Given the description of an element on the screen output the (x, y) to click on. 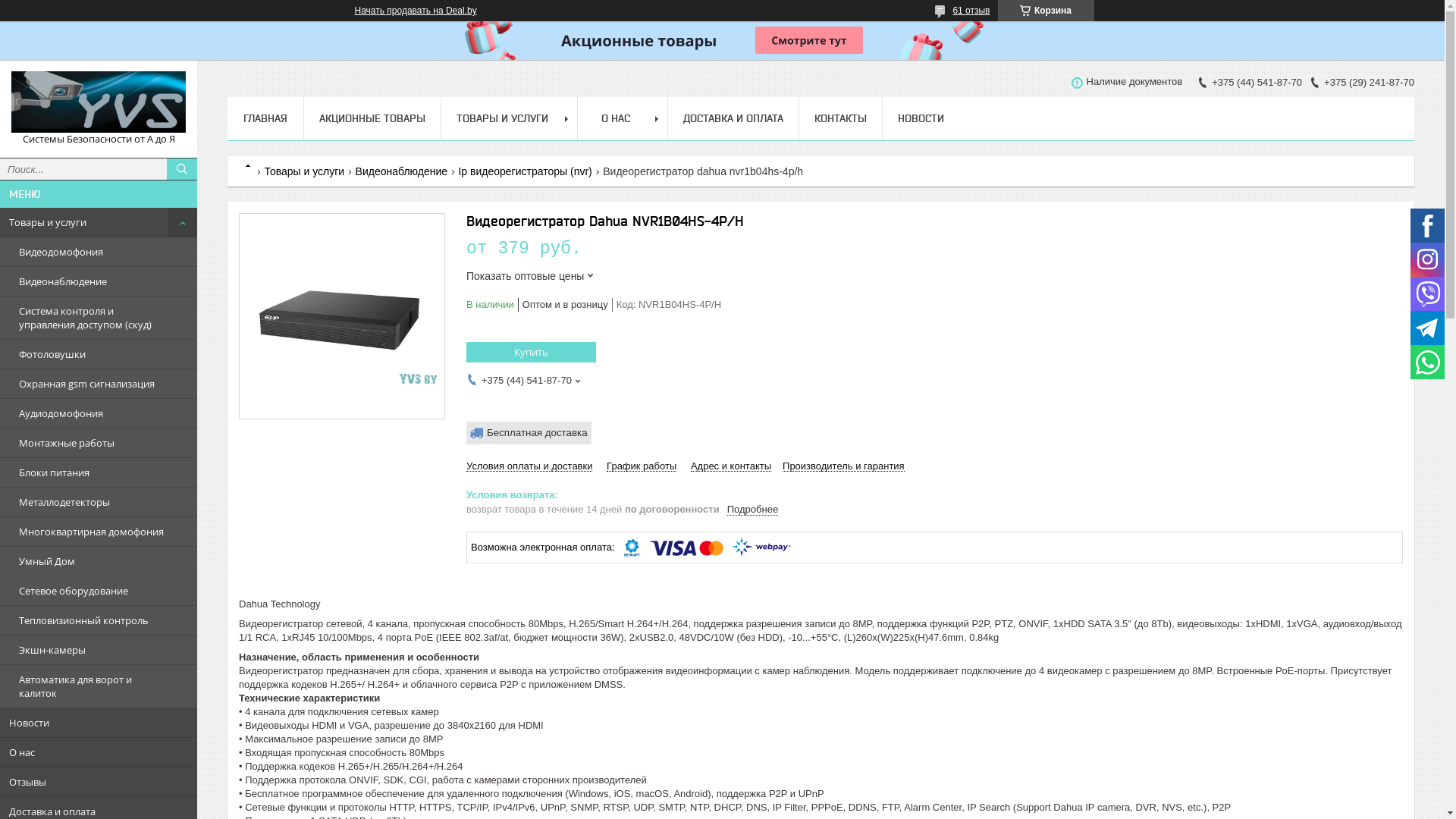
Y.V.Sistems Element type: hover (98, 101)
Y.v.sistems Element type: hover (252, 161)
